Given the description of an element on the screen output the (x, y) to click on. 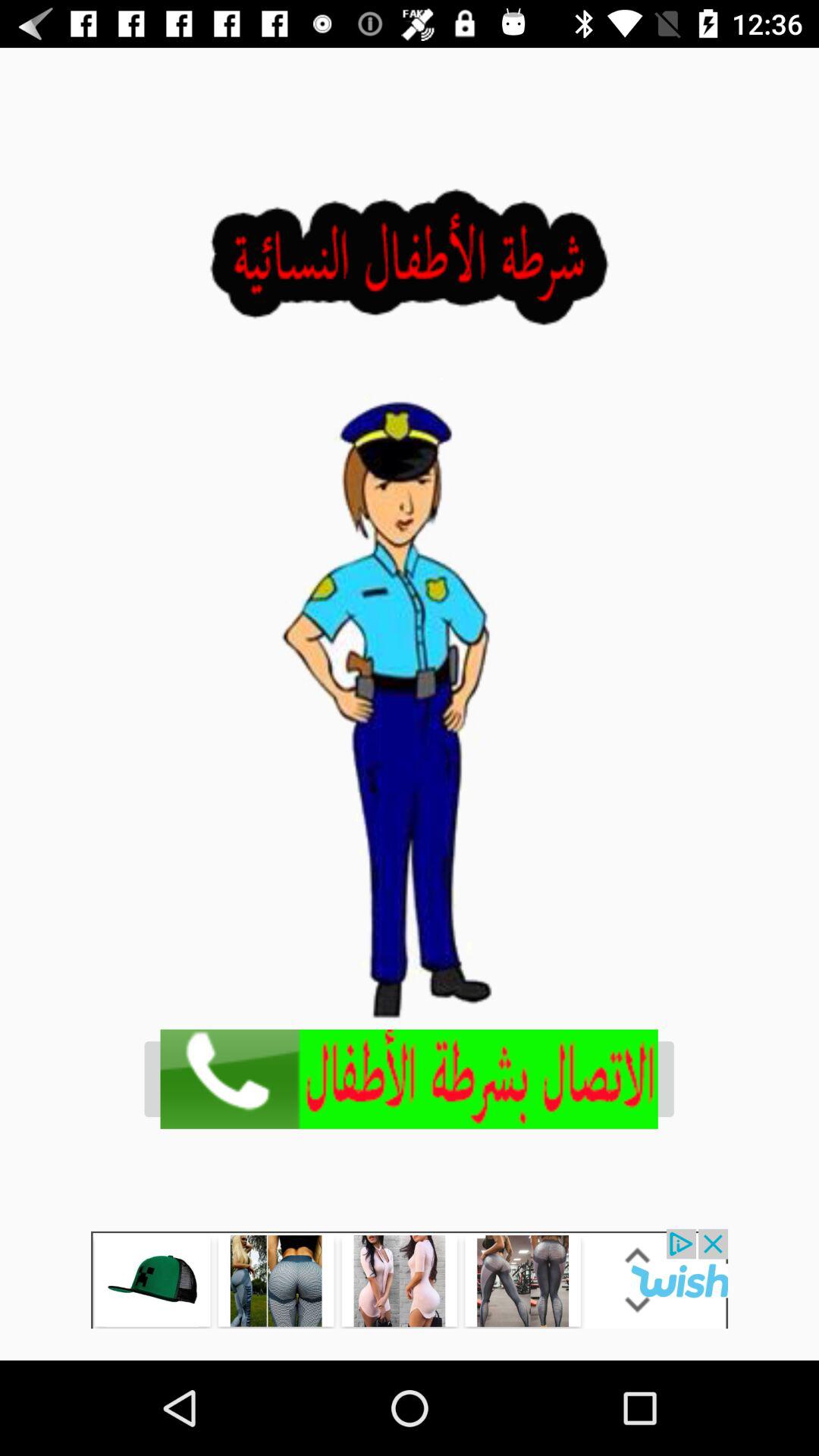
click to go to wish app (409, 1278)
